Given the description of an element on the screen output the (x, y) to click on. 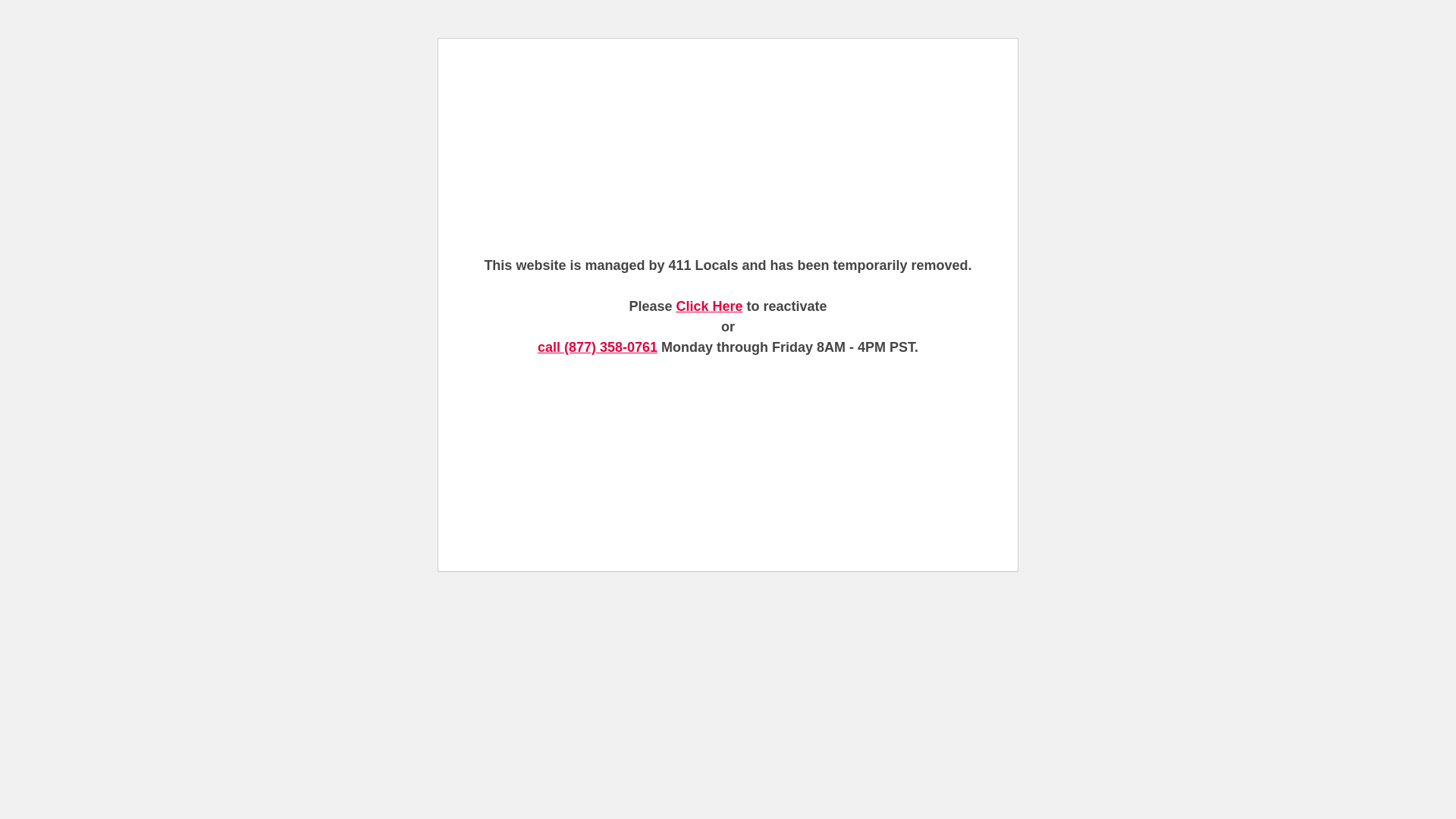
Click Here Element type: text (708, 305)
call (877) 358-0761 Element type: text (597, 346)
